Given the description of an element on the screen output the (x, y) to click on. 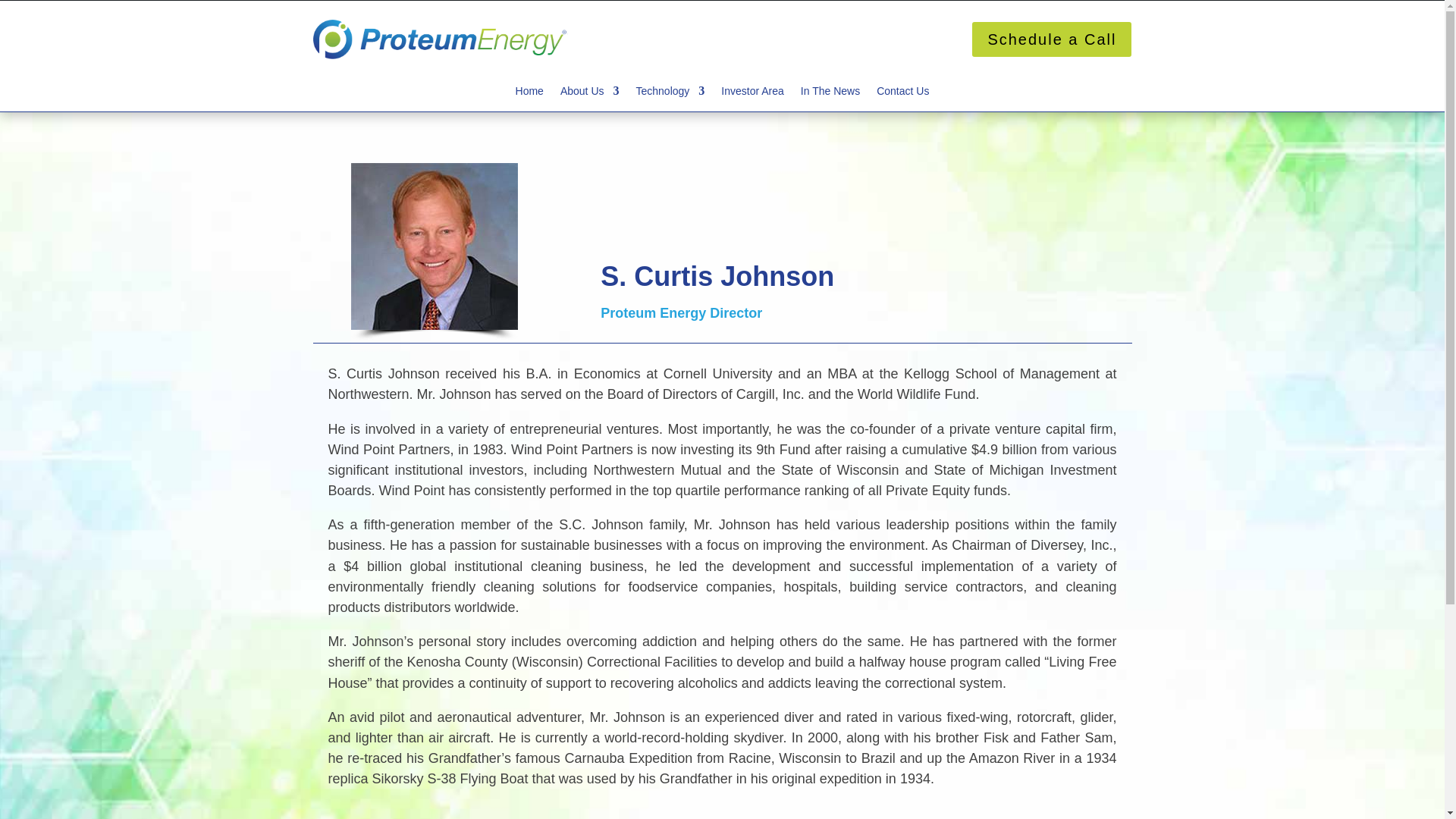
About Us (590, 93)
Dean Hoaglan (434, 246)
Logo Proteum Energy (440, 38)
Technology (670, 93)
Contact Us (902, 98)
Home (529, 93)
Investor Area (752, 93)
Schedule a Call (1051, 39)
avatar-shadow (434, 336)
In The News (830, 93)
